Given the description of an element on the screen output the (x, y) to click on. 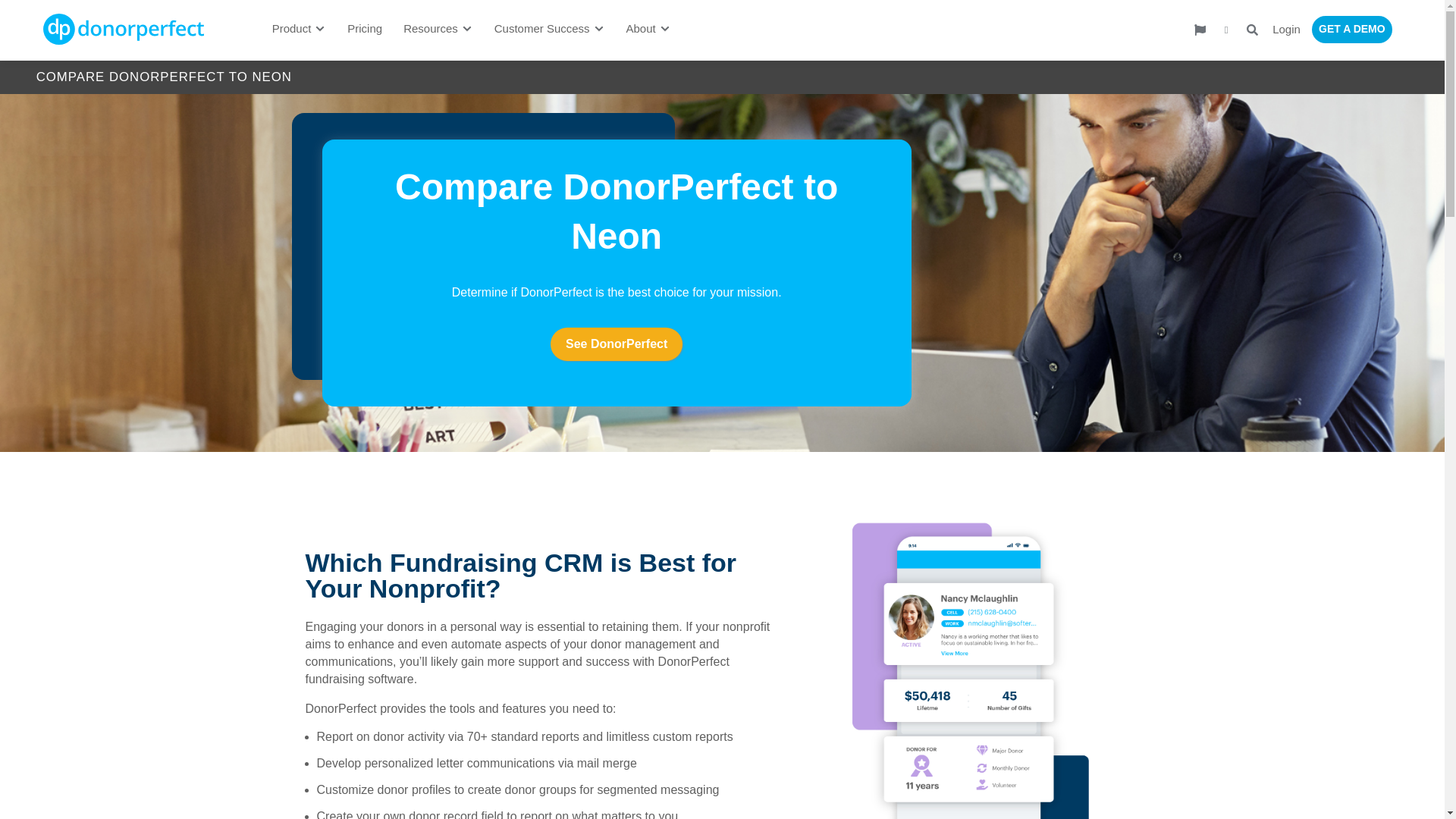
Product (291, 28)
Pricing (364, 28)
Resources (430, 28)
Customer Success (542, 28)
